Given the description of an element on the screen output the (x, y) to click on. 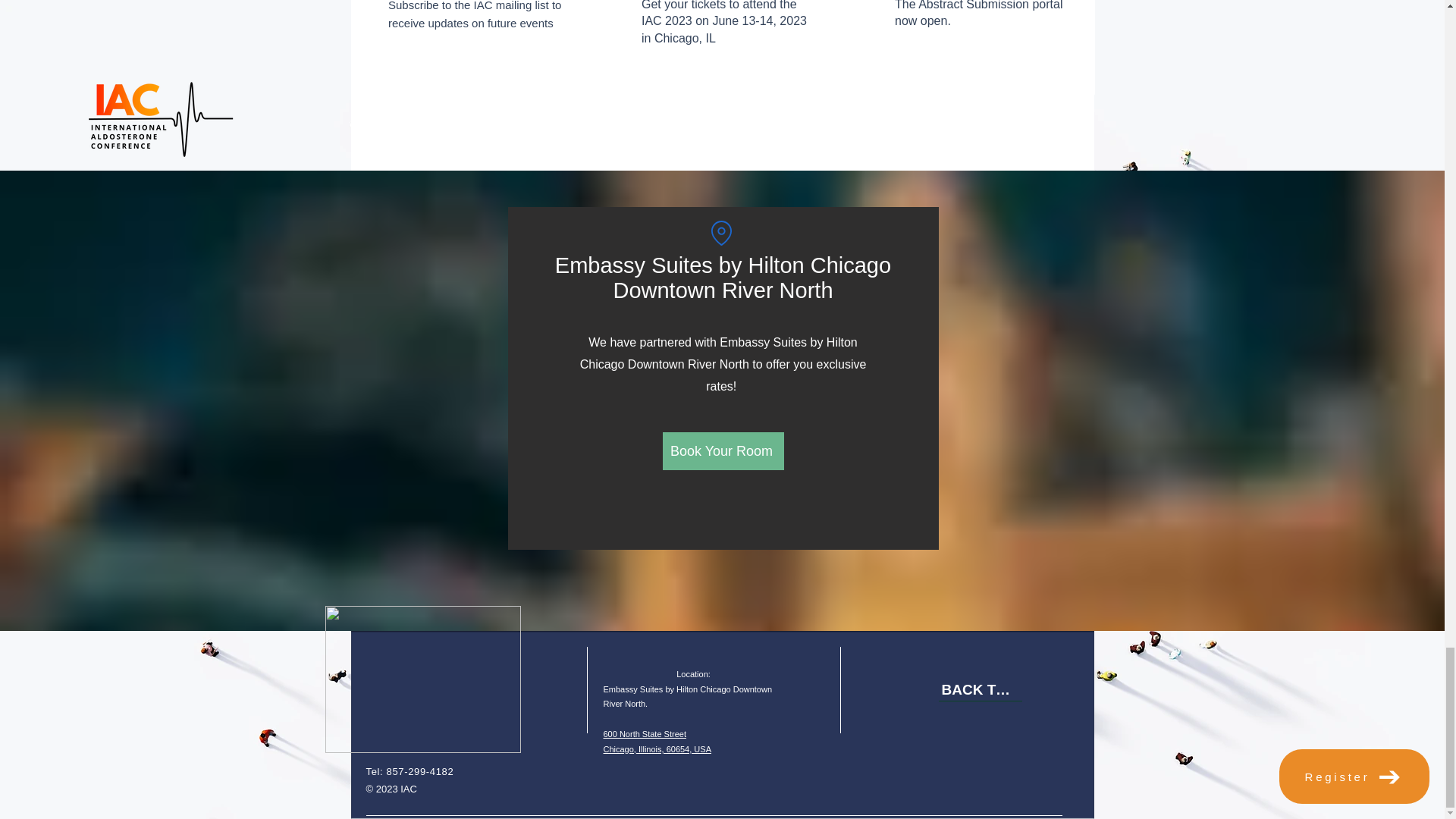
BACK TO TOP (657, 741)
Book Your Room (980, 689)
